Given the description of an element on the screen output the (x, y) to click on. 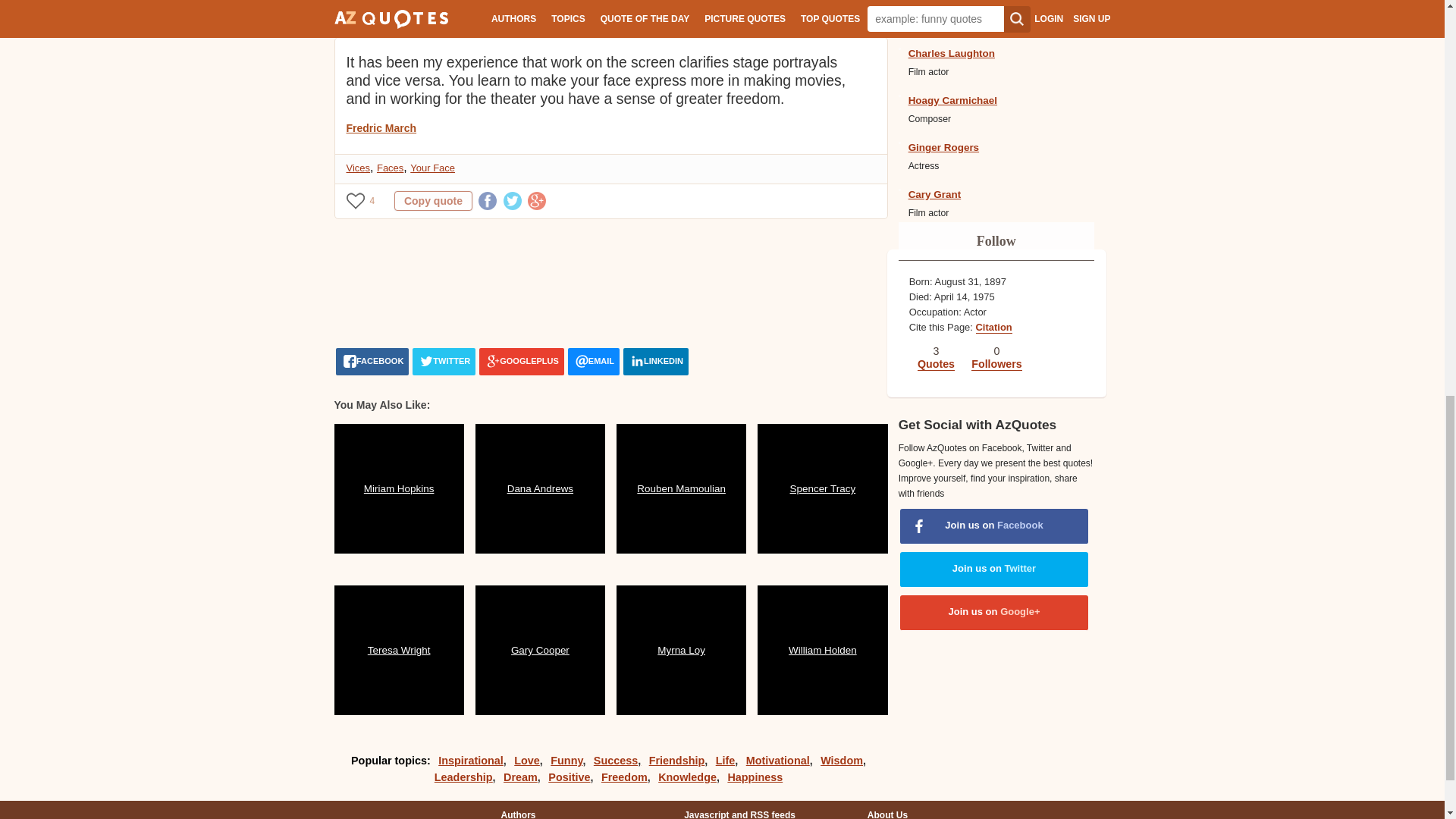
Quote is copied (432, 200)
Quote is copied (432, 4)
